Given the description of an element on the screen output the (x, y) to click on. 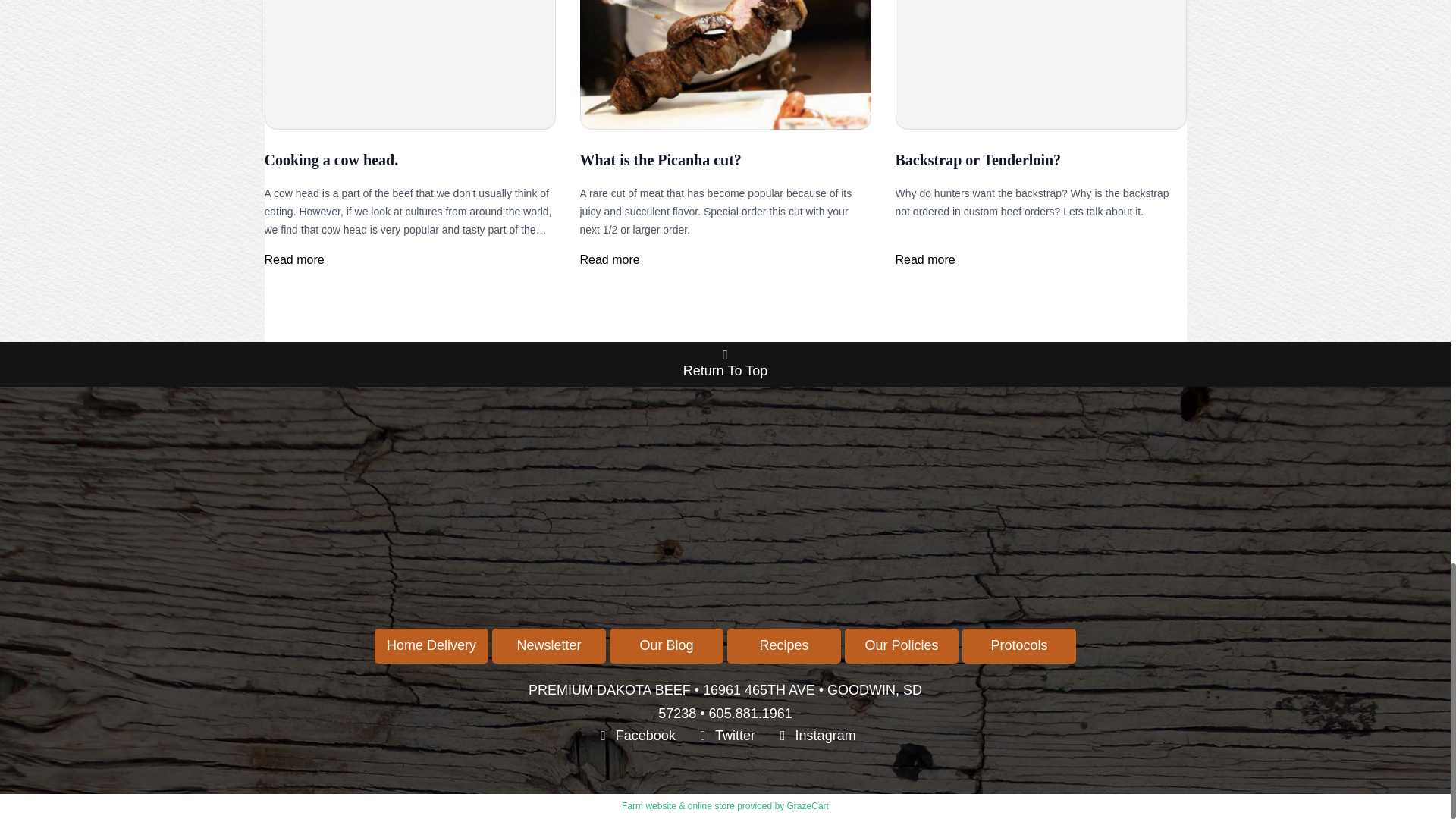
Cooking a cow head. (330, 159)
Return To Top (725, 364)
Our Policies (901, 645)
Backstrap or Tenderloin? (978, 159)
What is the Picanha cut? (660, 159)
Home Delivery (430, 645)
Read more (925, 259)
Newsletter (548, 645)
Read more (609, 259)
Read more (293, 259)
Recipes (783, 645)
Our Blog (666, 645)
